Given the description of an element on the screen output the (x, y) to click on. 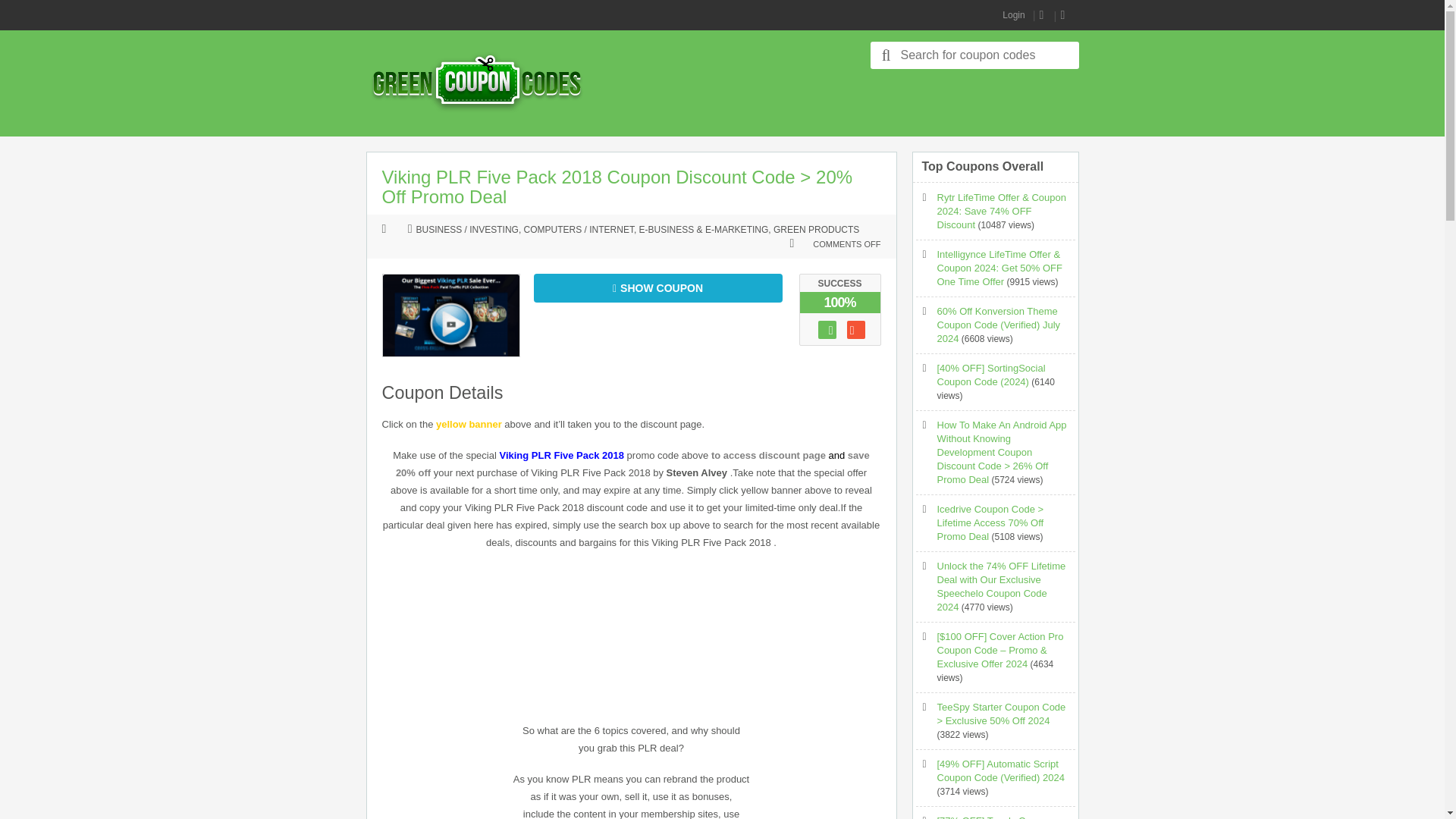
SHOW COUPON (658, 287)
RSS (1044, 14)
Login (1014, 14)
GREEN PRODUCTS (816, 230)
Search (886, 54)
Search (886, 54)
